Given the description of an element on the screen output the (x, y) to click on. 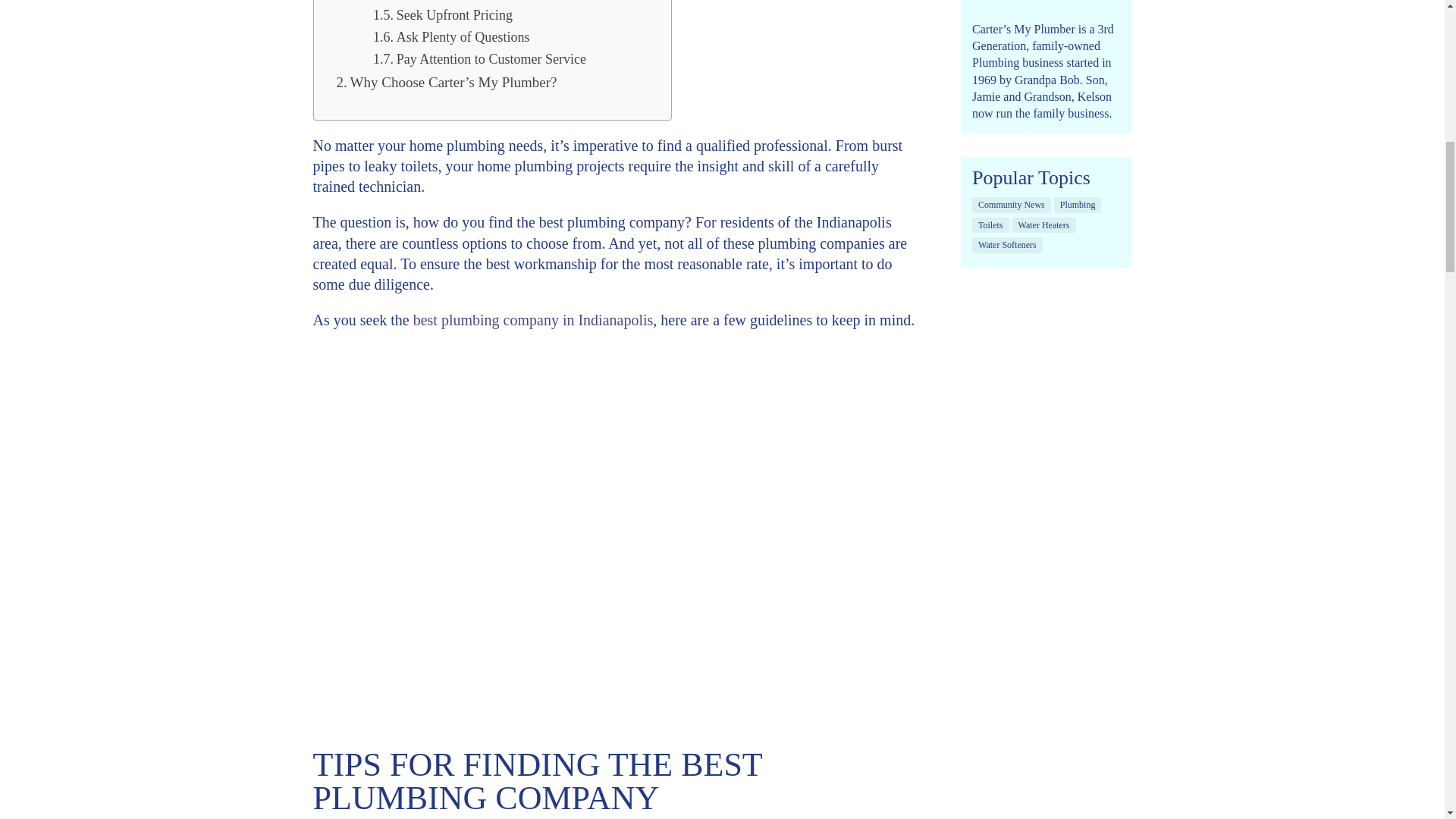
Ask Plenty of Questions (450, 37)
Check the Better Business Bureau (477, 2)
Pay Attention to Customer Service (479, 59)
Seek Upfront Pricing (442, 15)
